Given the description of an element on the screen output the (x, y) to click on. 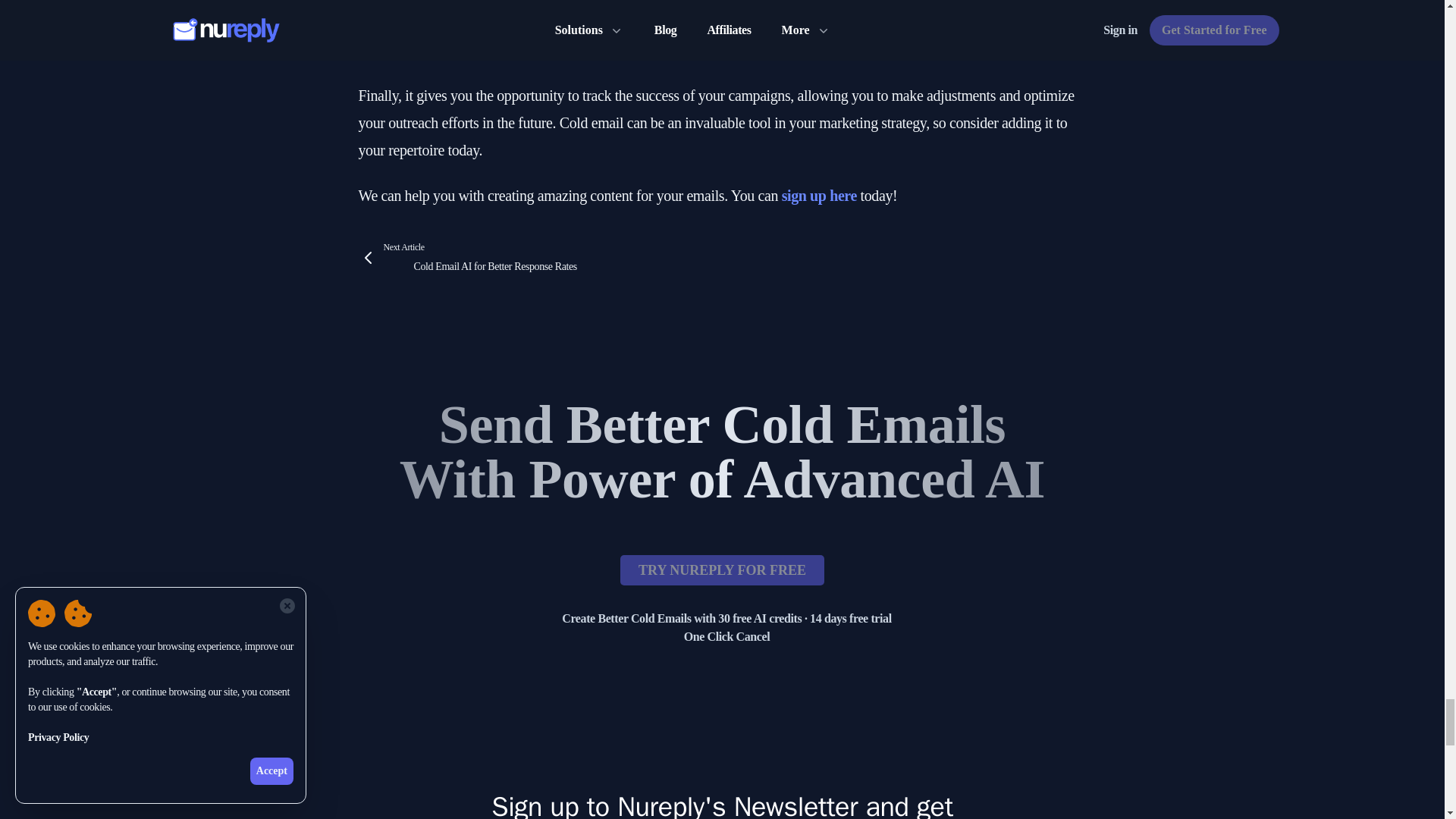
TRY NUREPLY FOR FREE (722, 569)
sign up here (476, 257)
TRY NUREPLY FOR FREE (819, 195)
